Given the description of an element on the screen output the (x, y) to click on. 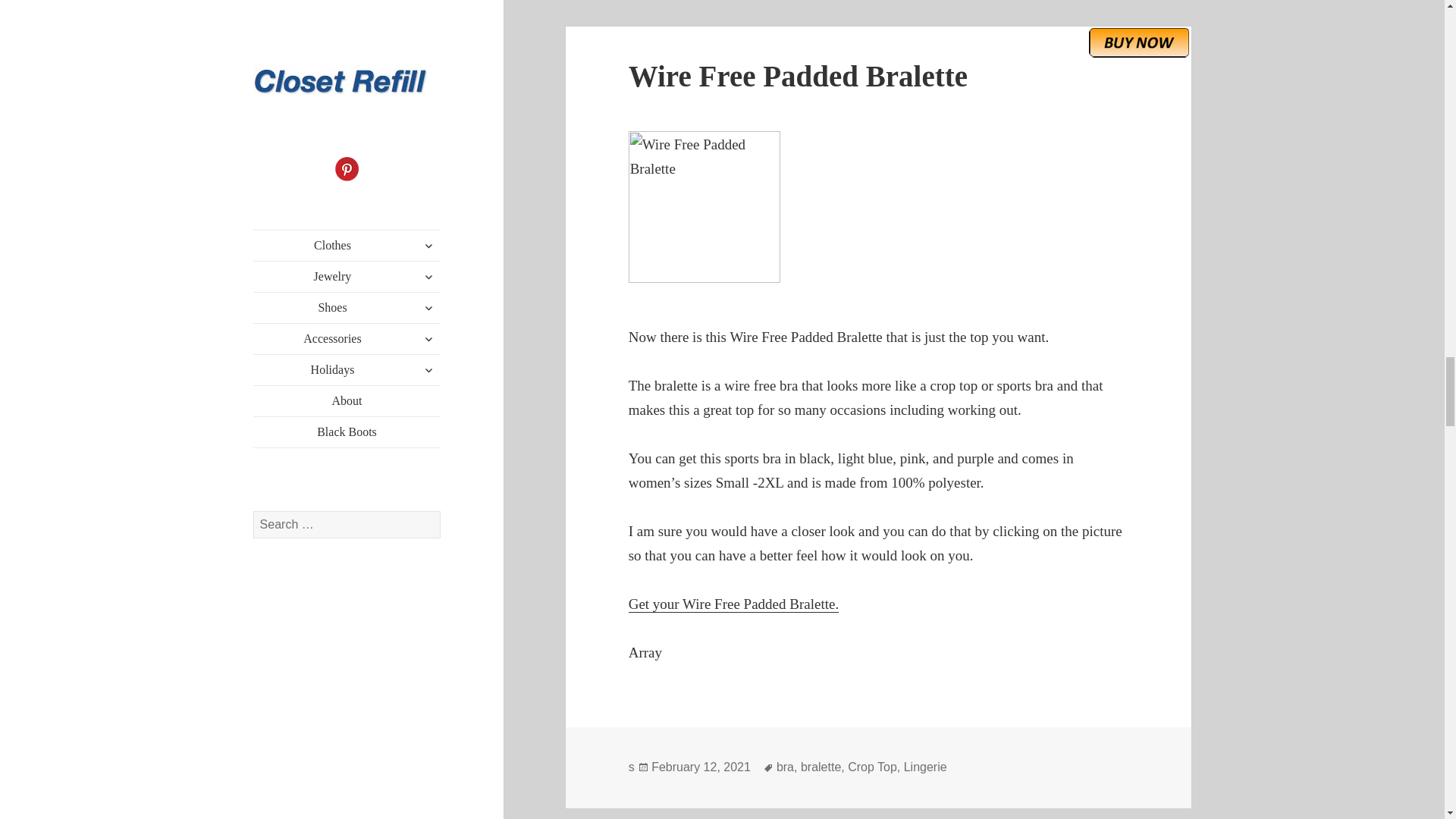
buy Wire Free Padded Bralette (1139, 42)
